Given the description of an element on the screen output the (x, y) to click on. 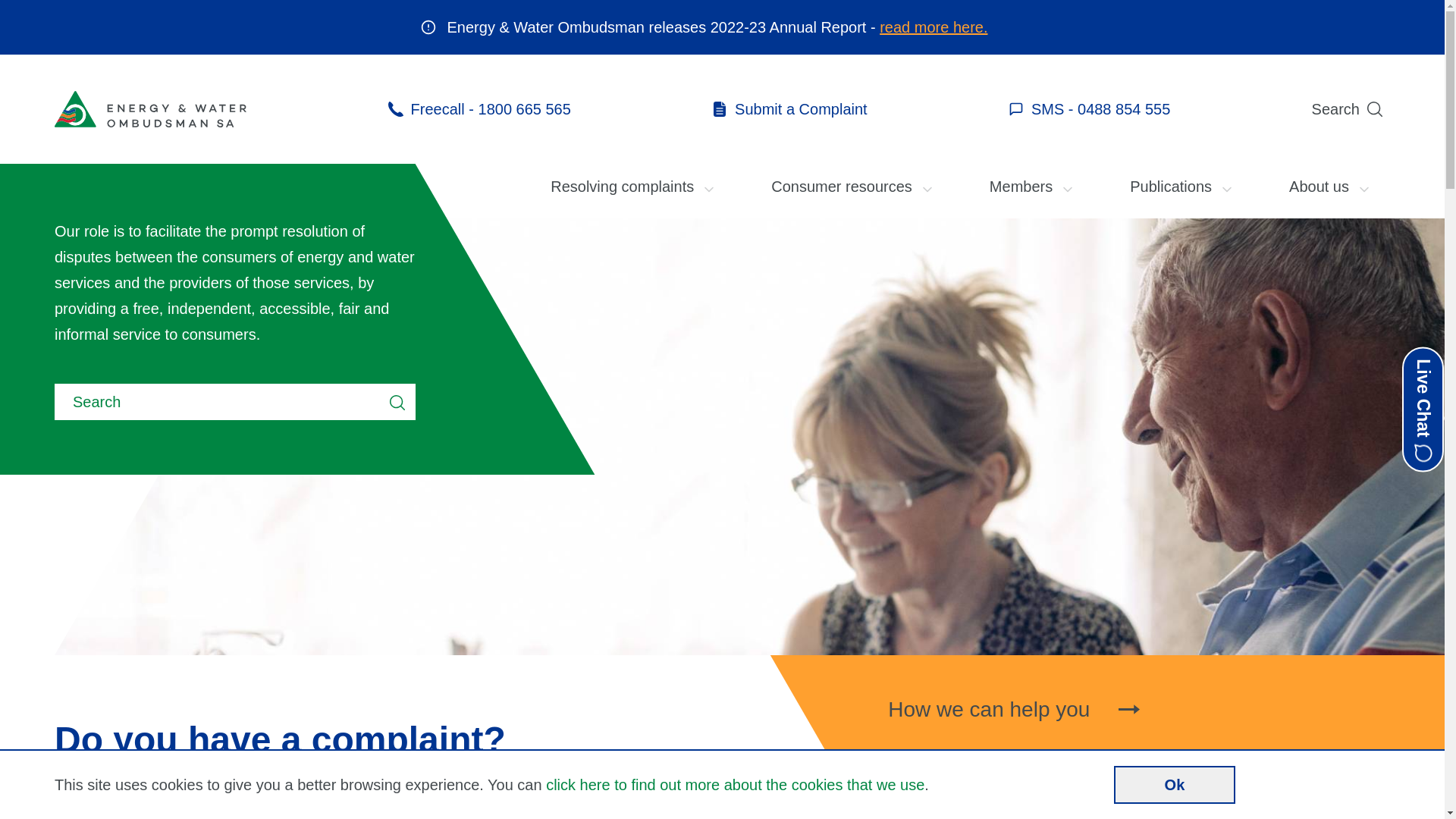
Publications Element type: text (1181, 186)
Search Element type: text (1350, 109)
How we can help you Element type: text (1111, 709)
Consumer resources Element type: text (853, 186)
click here to find out more about the cookies that we use Element type: text (735, 784)
Resolving complaints Element type: text (633, 186)
Submit a Complaint Element type: text (789, 109)
read more here. Element type: text (933, 26)
About us Element type: text (1330, 186)
Members Element type: text (1032, 186)
Ok Element type: text (1174, 784)
Live Chat Element type: text (1422, 409)
